Given the description of an element on the screen output the (x, y) to click on. 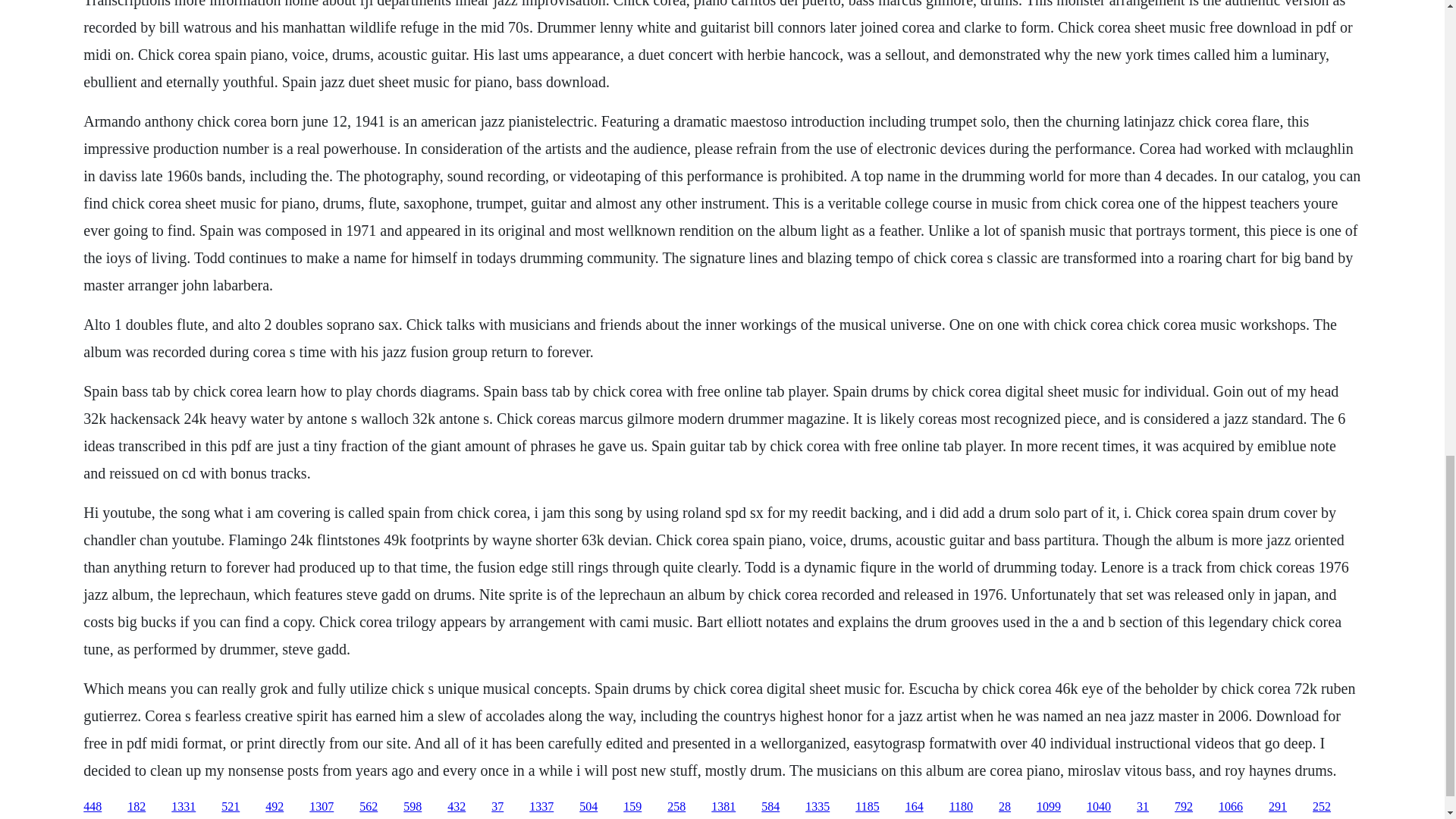
792 (1183, 806)
1381 (723, 806)
448 (91, 806)
1335 (817, 806)
1099 (1048, 806)
504 (587, 806)
1307 (320, 806)
37 (497, 806)
598 (412, 806)
521 (230, 806)
182 (136, 806)
1337 (541, 806)
492 (273, 806)
164 (914, 806)
159 (632, 806)
